Given the description of an element on the screen output the (x, y) to click on. 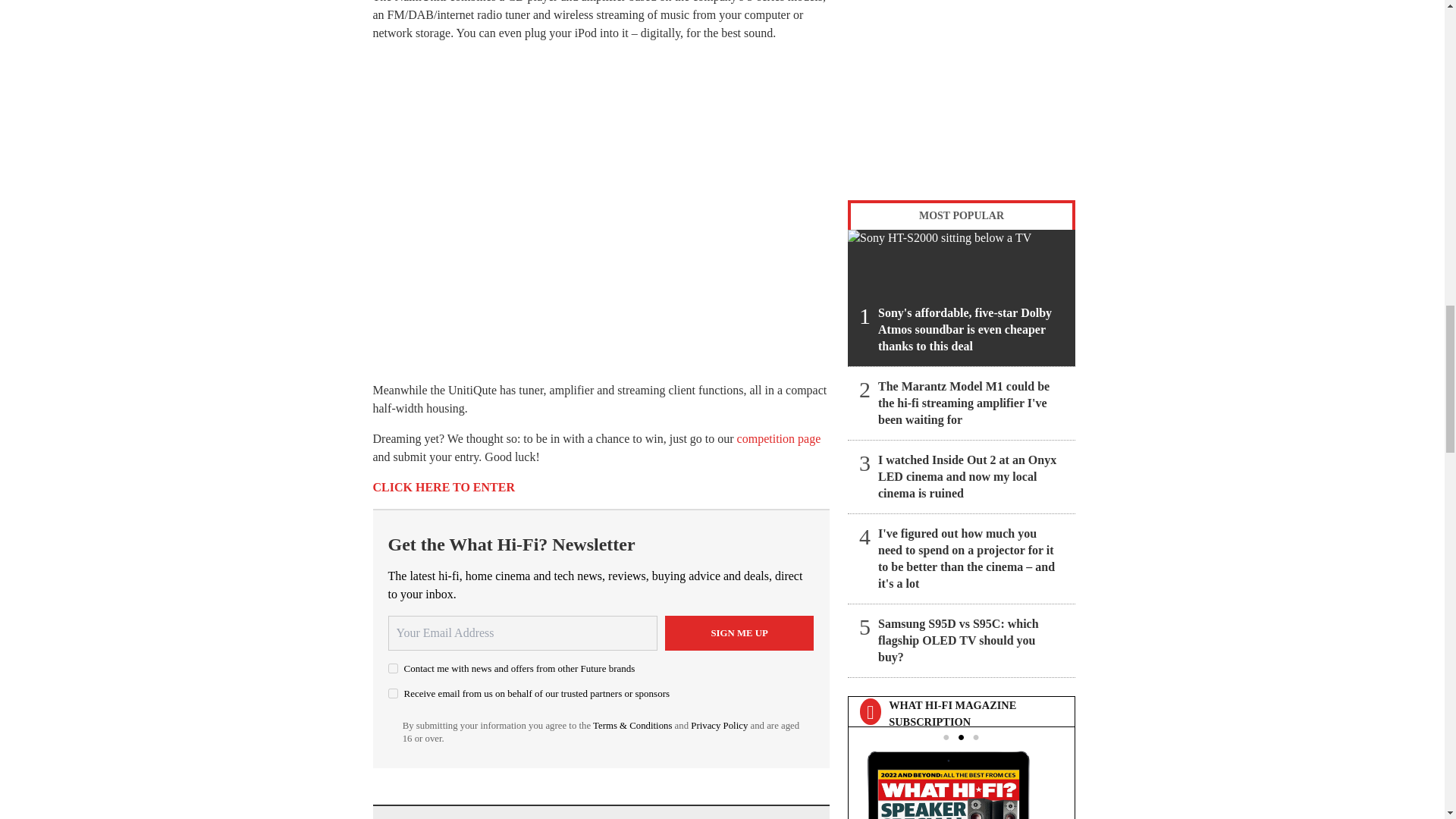
What Hi-Fi Magazine... (960, 780)
on (392, 693)
Sign me up (739, 632)
on (392, 668)
